Given the description of an element on the screen output the (x, y) to click on. 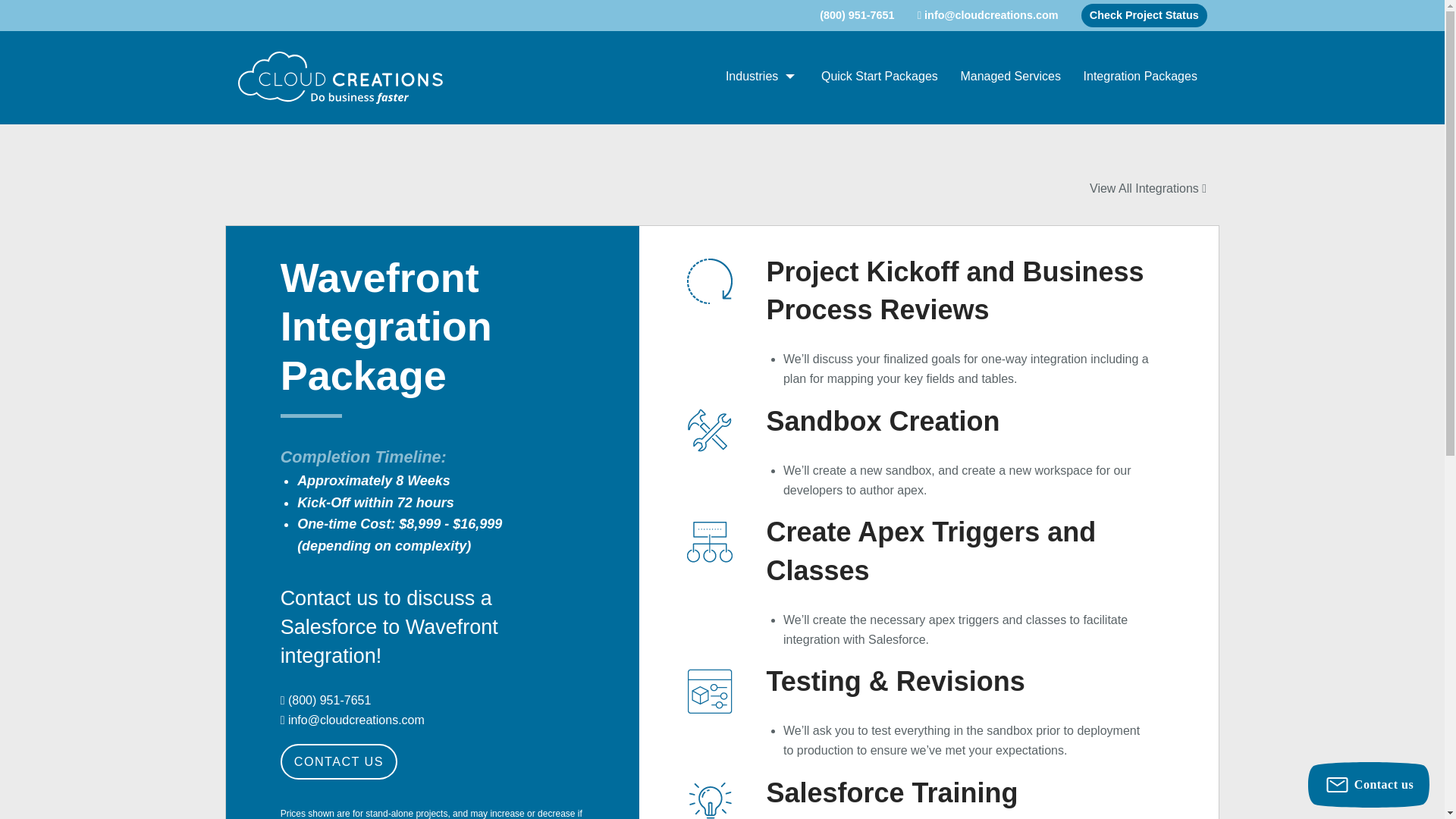
CONTACT US (339, 761)
View All Integrations (1148, 188)
Quick Start Packages (879, 77)
Contact us (1368, 784)
Industries (761, 77)
Check Project Status (1144, 15)
Managed Services (1010, 77)
Integration Packages (1139, 77)
